Given the description of an element on the screen output the (x, y) to click on. 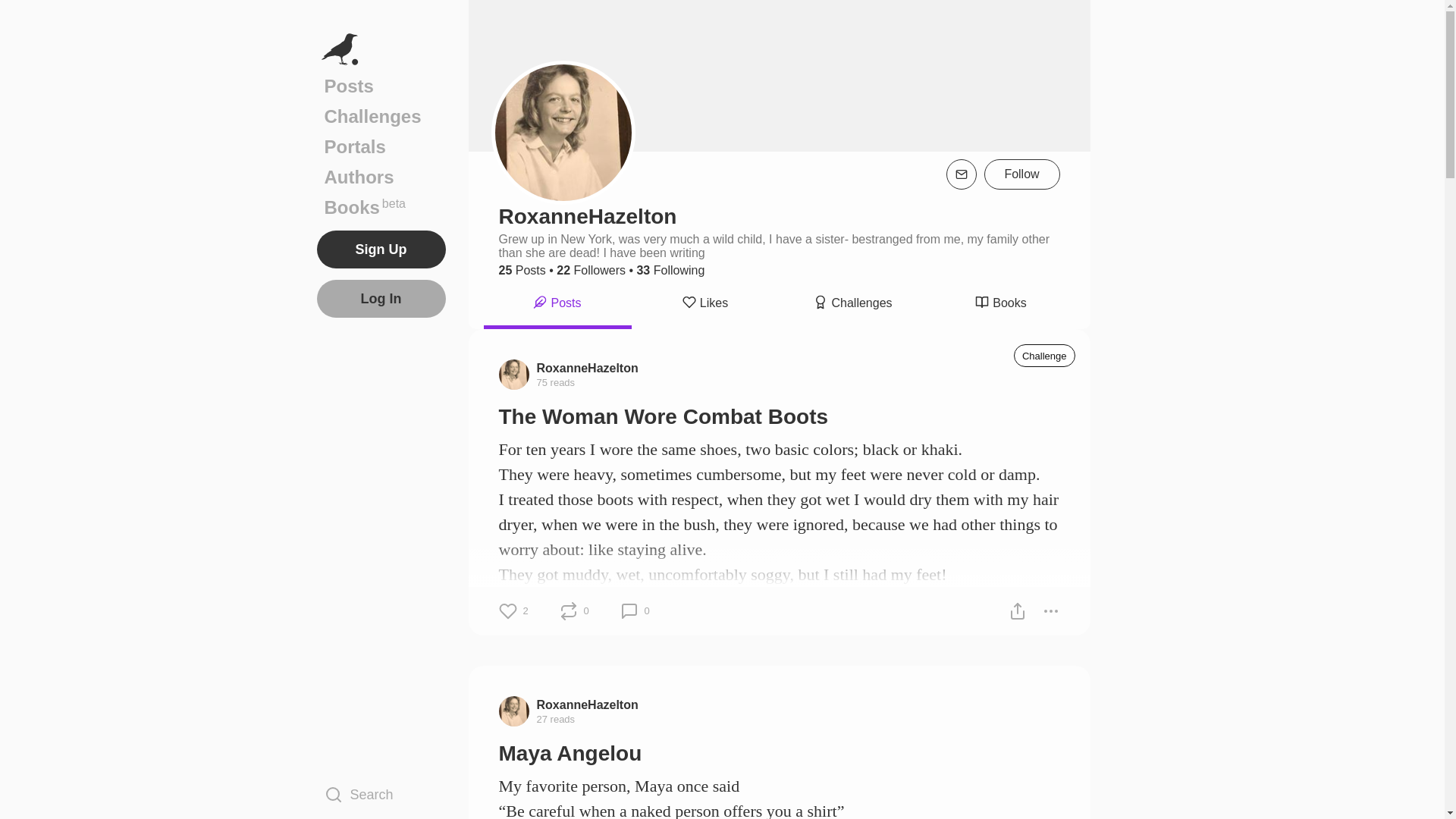
Search (381, 794)
Posts (557, 305)
Challenges (852, 305)
Posts (381, 86)
Portals (381, 146)
22 Followers (591, 269)
Challenges (381, 207)
Books (381, 116)
Authors (1000, 305)
